Given the description of an element on the screen output the (x, y) to click on. 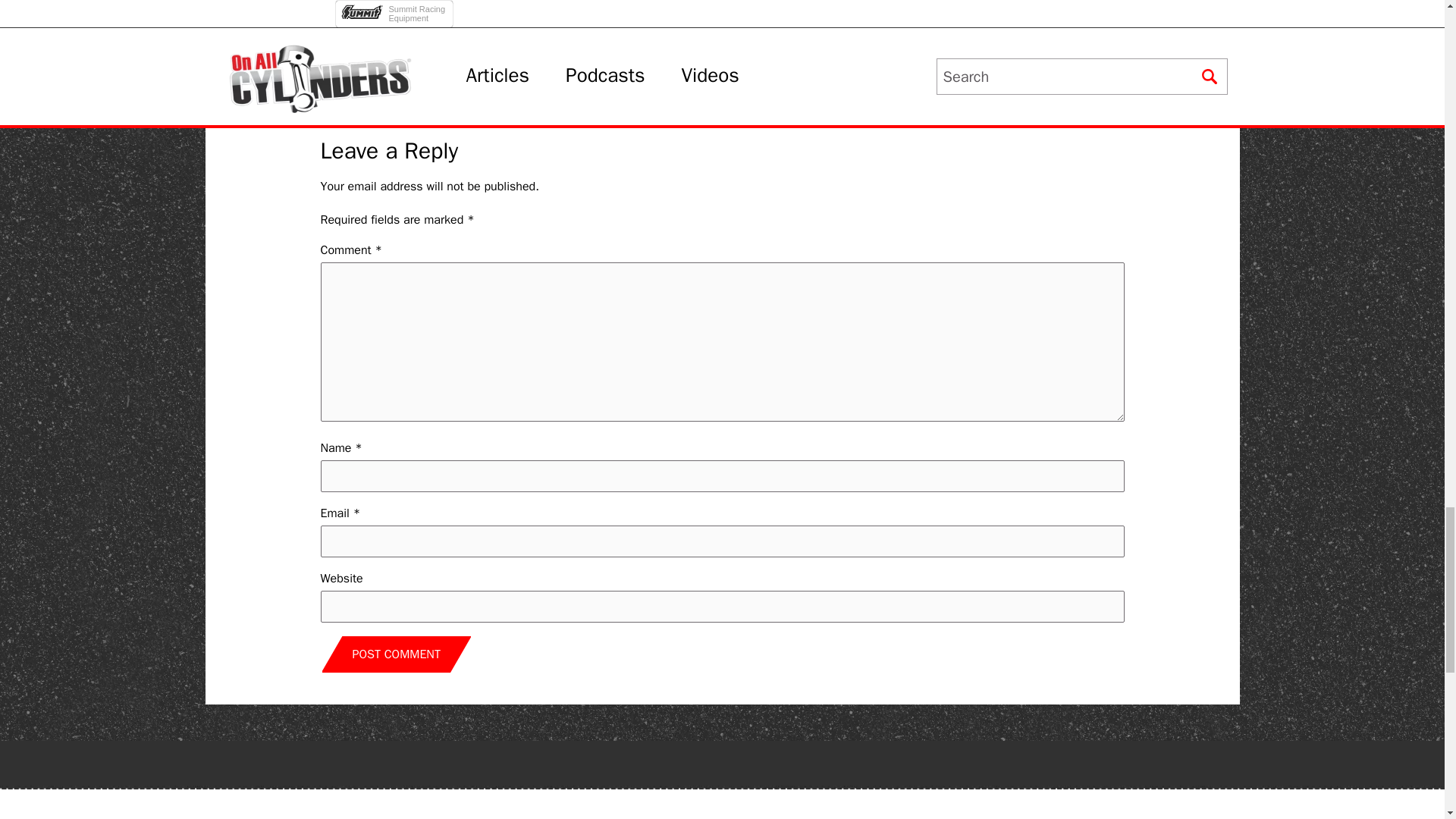
Post Comment (395, 654)
